Given the description of an element on the screen output the (x, y) to click on. 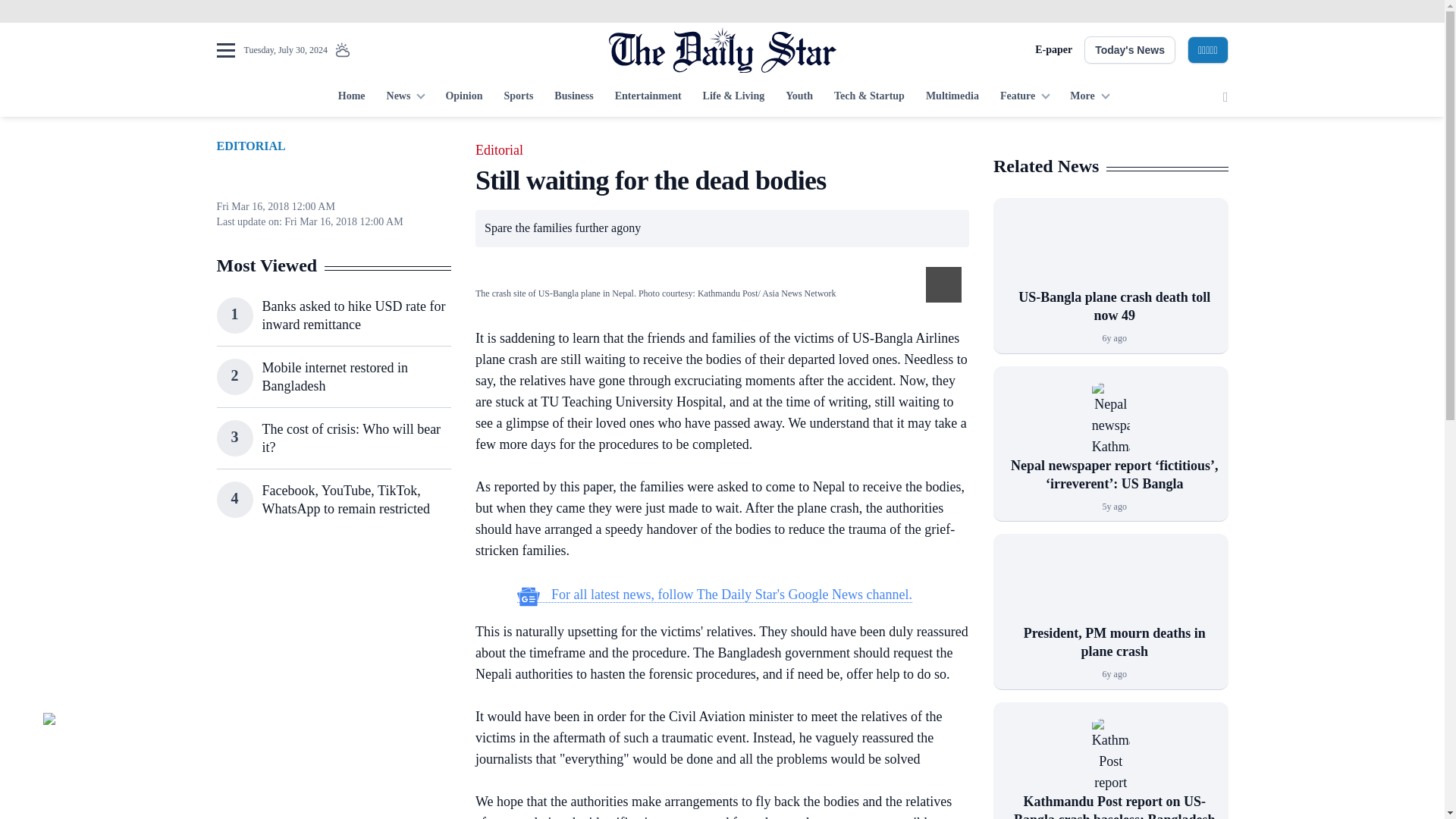
Home (351, 96)
Sports (518, 96)
Kathmandu Post report on US-Bangla plane crash (1110, 755)
Nepal newspaper Kathmandu Post Report (1110, 419)
Multimedia (952, 96)
Entertainment (647, 96)
E-paper (1053, 49)
Youth (799, 96)
Business (573, 96)
News (405, 96)
Feature (1024, 96)
Today's News (1129, 49)
Opinion (463, 96)
